Given the description of an element on the screen output the (x, y) to click on. 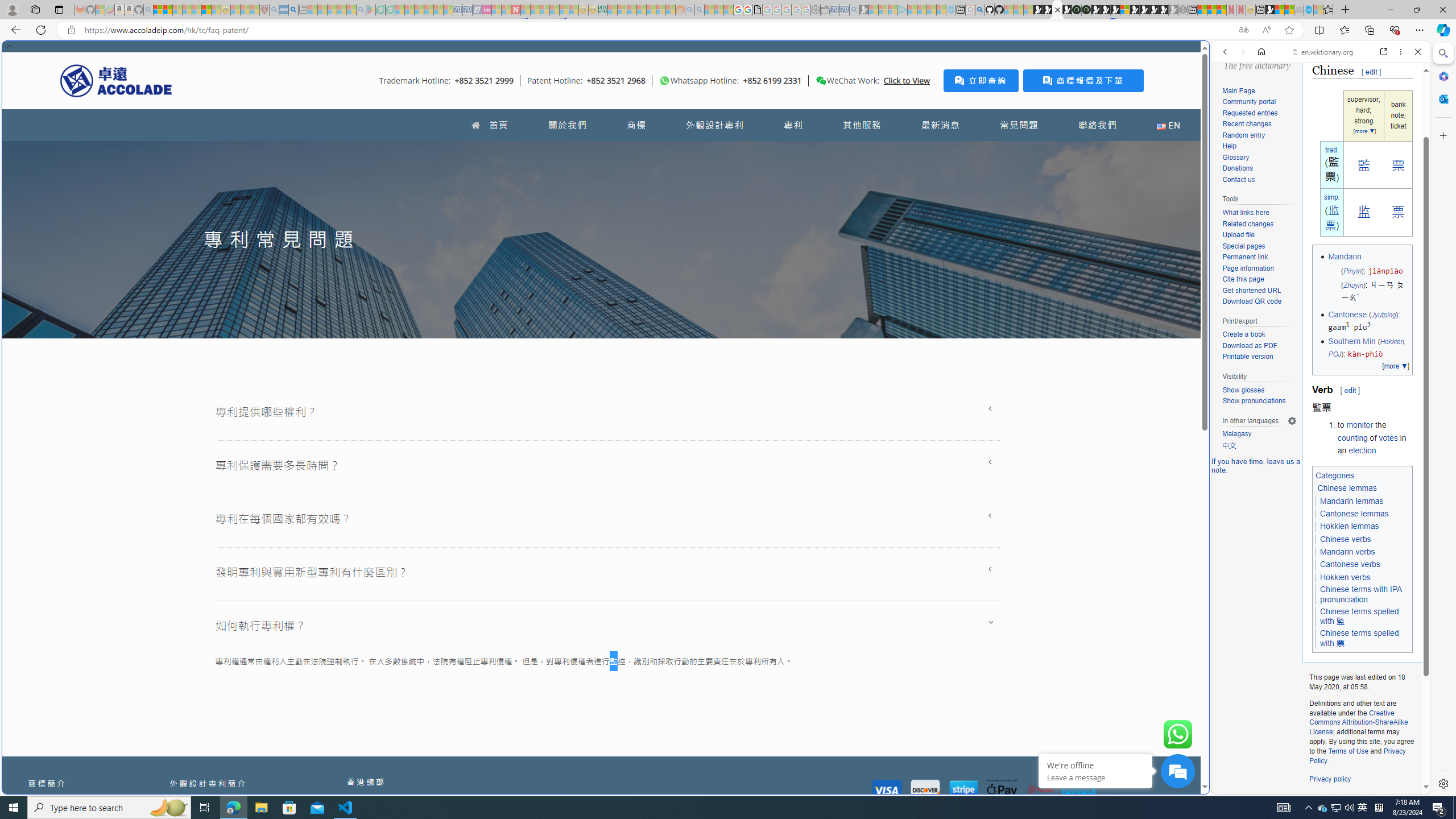
Requested entries (1249, 112)
Get shortened URL (1259, 290)
Wiktionary (1315, 380)
Cite this page (1242, 279)
Show translate options (1243, 29)
Mandarin verbs (1347, 551)
Hokkien verbs (1345, 577)
Terms of Use Agreement - Sleeping (380, 9)
WEB   (1230, 130)
